Given the description of an element on the screen output the (x, y) to click on. 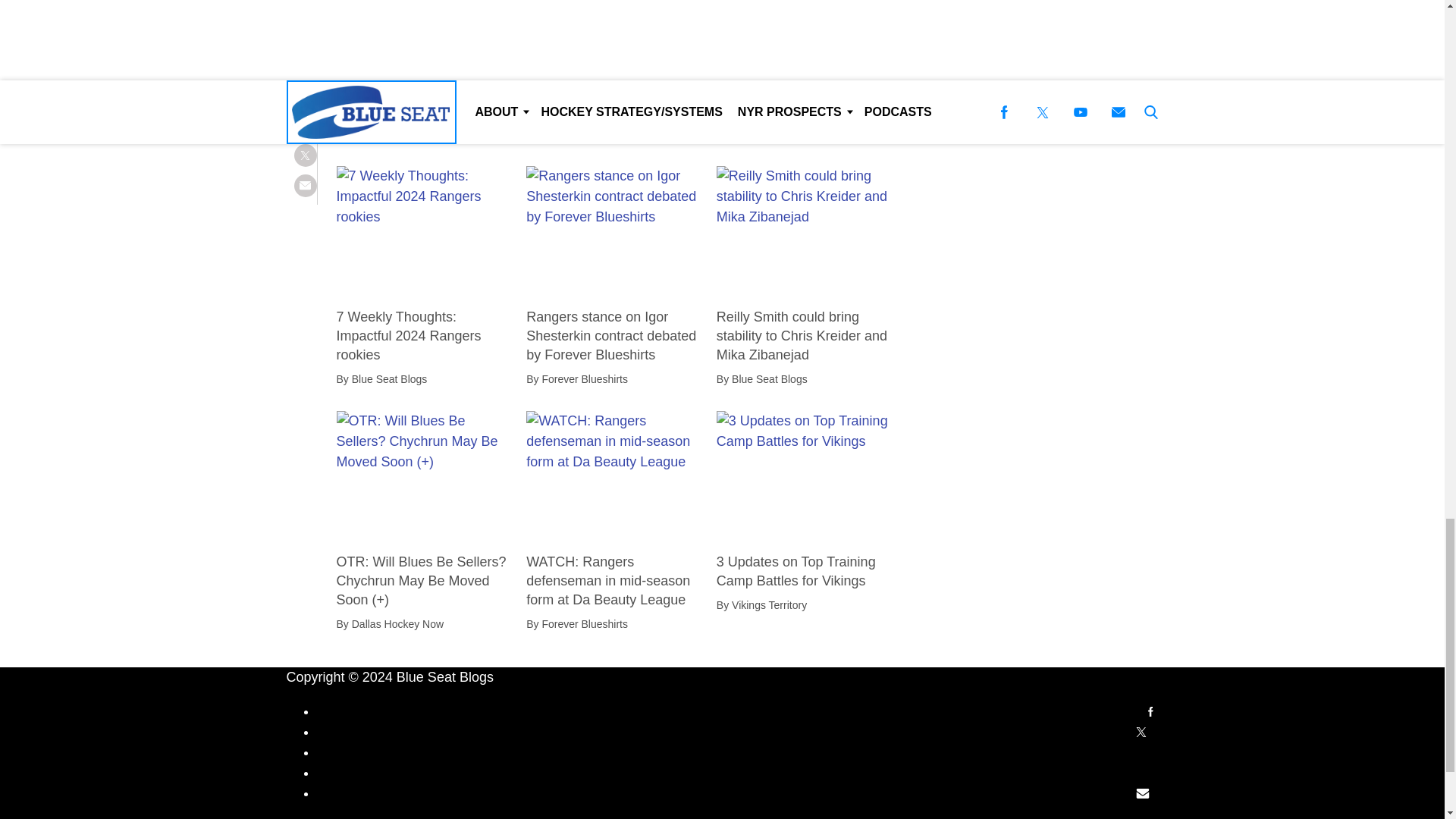
Facebook (1149, 711)
Follow us on Twitter (1141, 731)
Forever Blueshirts (395, 133)
Twitter (1141, 732)
Follow us on Facebook (1149, 711)
New York Rangers coaches since 2000 ranked worst to best (425, 91)
Send us an email (1142, 792)
Envelope (1142, 793)
